Given the description of an element on the screen output the (x, y) to click on. 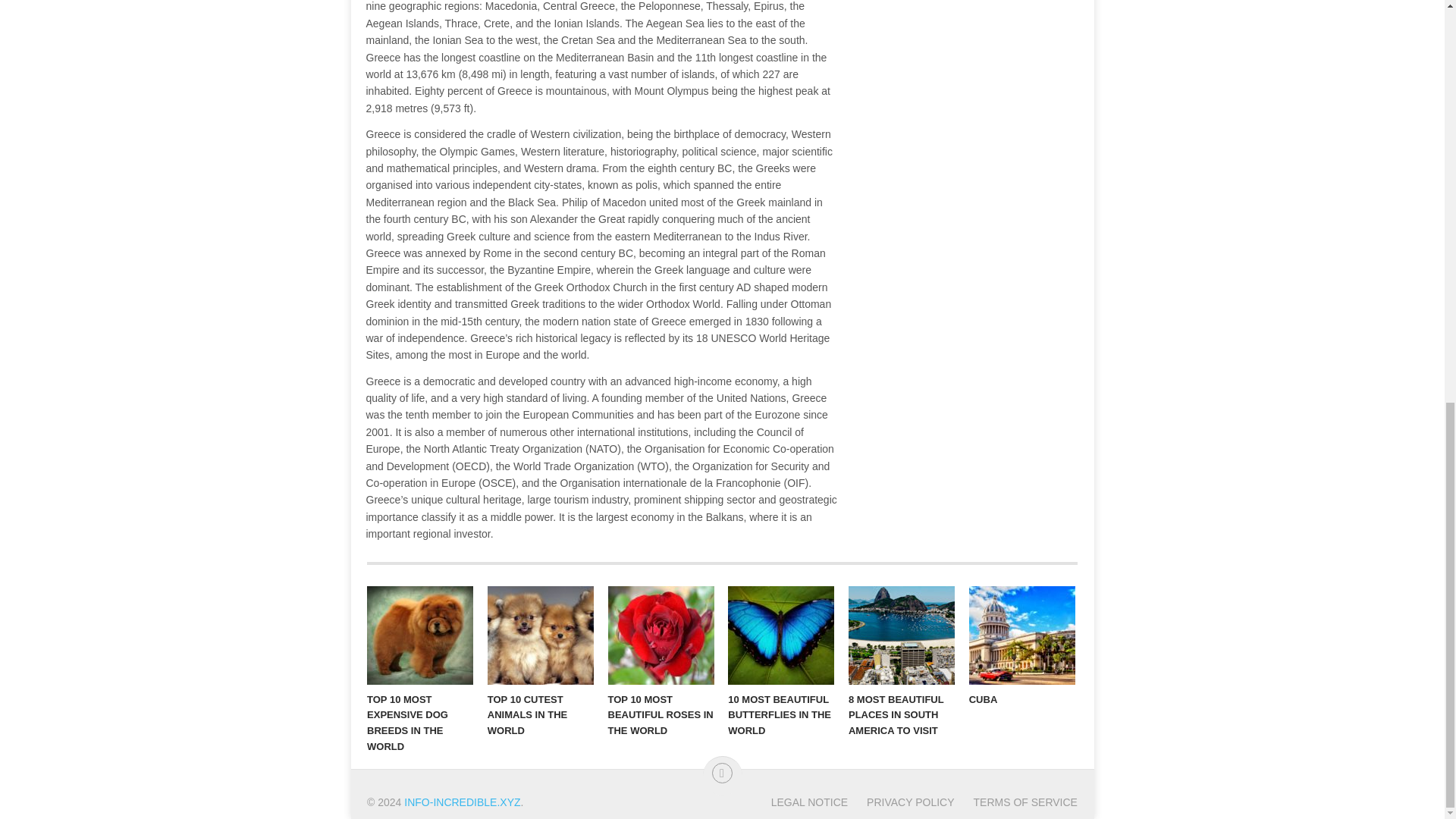
TOP 10 CUTEST ANIMALS IN THE WORLD (540, 635)
TERMS OF SERVICE (1016, 802)
Cuba (1022, 635)
8 MOST BEAUTIFUL PLACES IN SOUTH AMERICA TO VISIT (901, 635)
10 MOST BEAUTIFUL BUTTERFLIES IN THE WORLD (781, 635)
8 Most Beautiful Places In South America To Visit (901, 635)
Top 10 Most Beautiful Roses In The World (661, 635)
Top 10 Most Expensive Dog Breeds In The World (419, 635)
TOP 10 MOST BEAUTIFUL ROSES IN THE WORLD (661, 635)
LEGAL NOTICE (809, 802)
Top 10 Cutest Animals In The World (540, 635)
TOP 10 MOST EXPENSIVE DOG BREEDS IN THE WORLD (419, 635)
CUBA (1022, 635)
10 Most Beautiful Butterflies In The World (781, 635)
PRIVACY POLICY (900, 802)
